Given the description of an element on the screen output the (x, y) to click on. 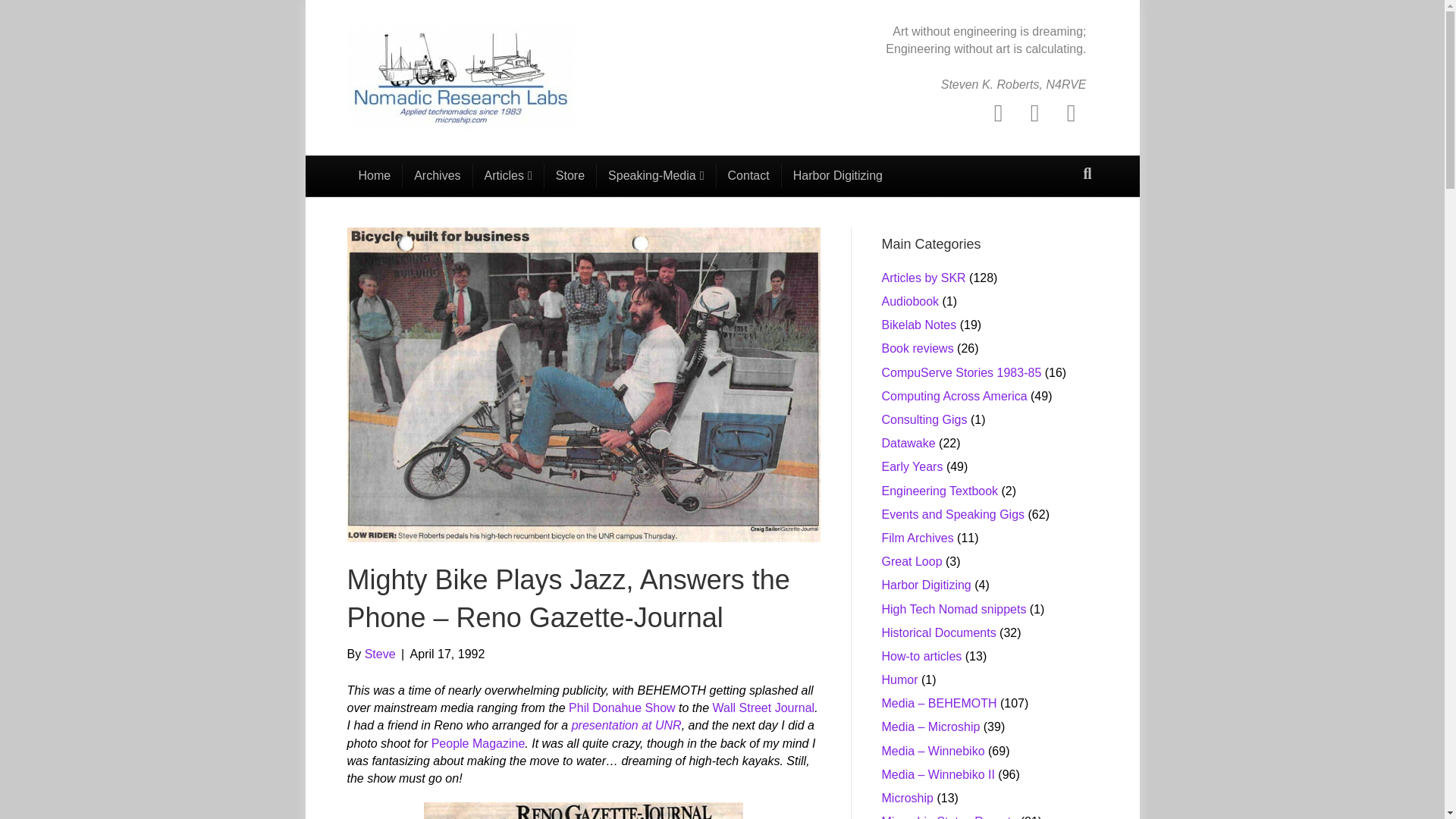
Articles (508, 176)
Archives (437, 175)
Twitter (1034, 112)
Youtube (1070, 112)
Speaking-Media (656, 176)
Store (570, 175)
Facebook (997, 112)
Reno Gazette logo (582, 810)
Home (375, 175)
